Given the description of an element on the screen output the (x, y) to click on. 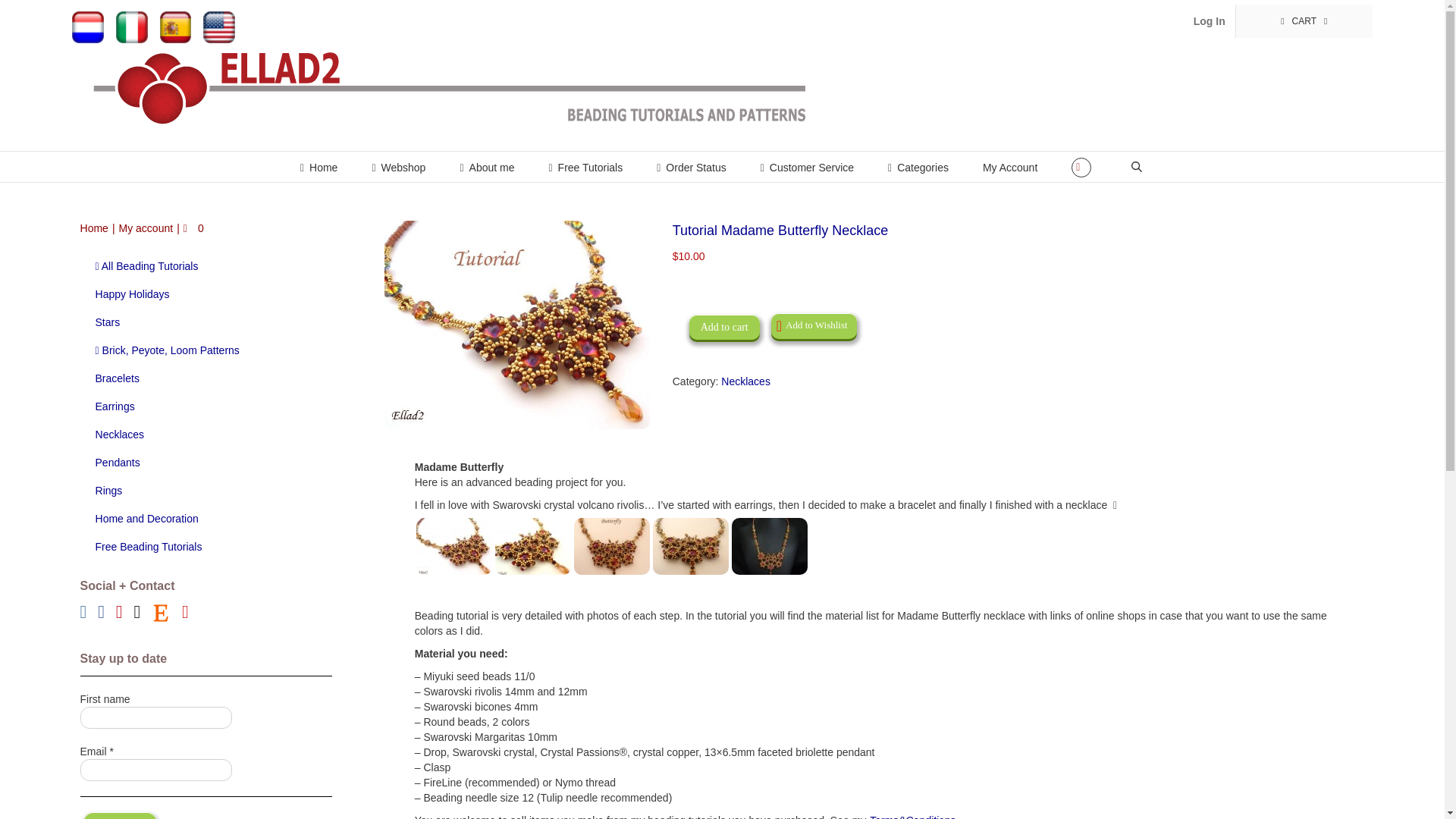
Subscribe! (119, 815)
Free beading Patterns (585, 166)
Categories (918, 166)
Log In (1208, 20)
Free Tutorials (585, 166)
About Ella (486, 166)
About me (486, 166)
Home (318, 166)
Customer Service (806, 166)
CART (1304, 20)
Order Status (691, 166)
Webshop (398, 166)
